Given the description of an element on the screen output the (x, y) to click on. 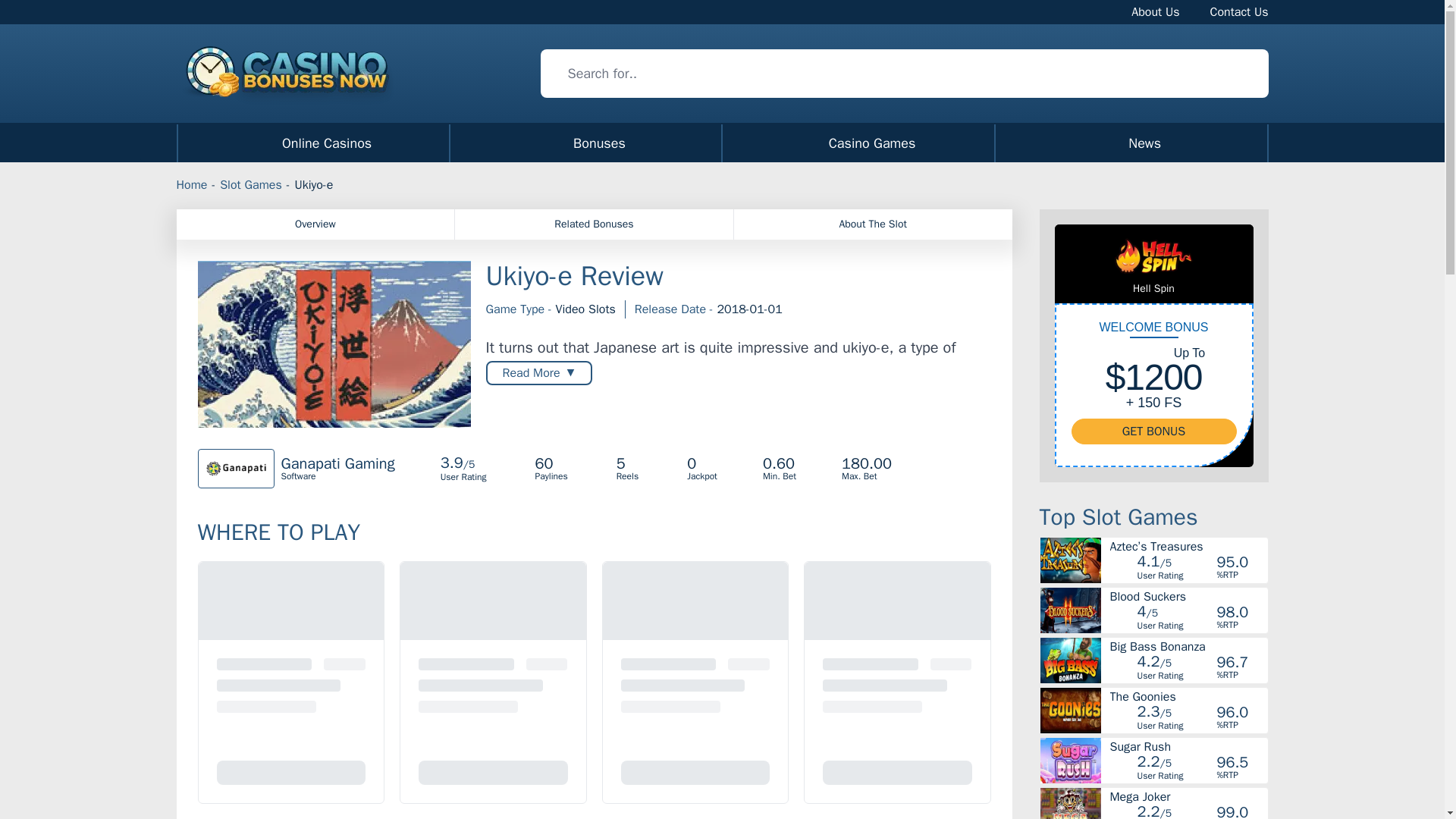
About Us (1155, 11)
Hell Spin (1153, 288)
Contact Us (593, 224)
Big Bass Bonanza (1238, 11)
Sugar Rush (1187, 645)
Blood Suckers (1187, 746)
Mega Joker (721, 142)
The Goonies (1187, 595)
